Given the description of an element on the screen output the (x, y) to click on. 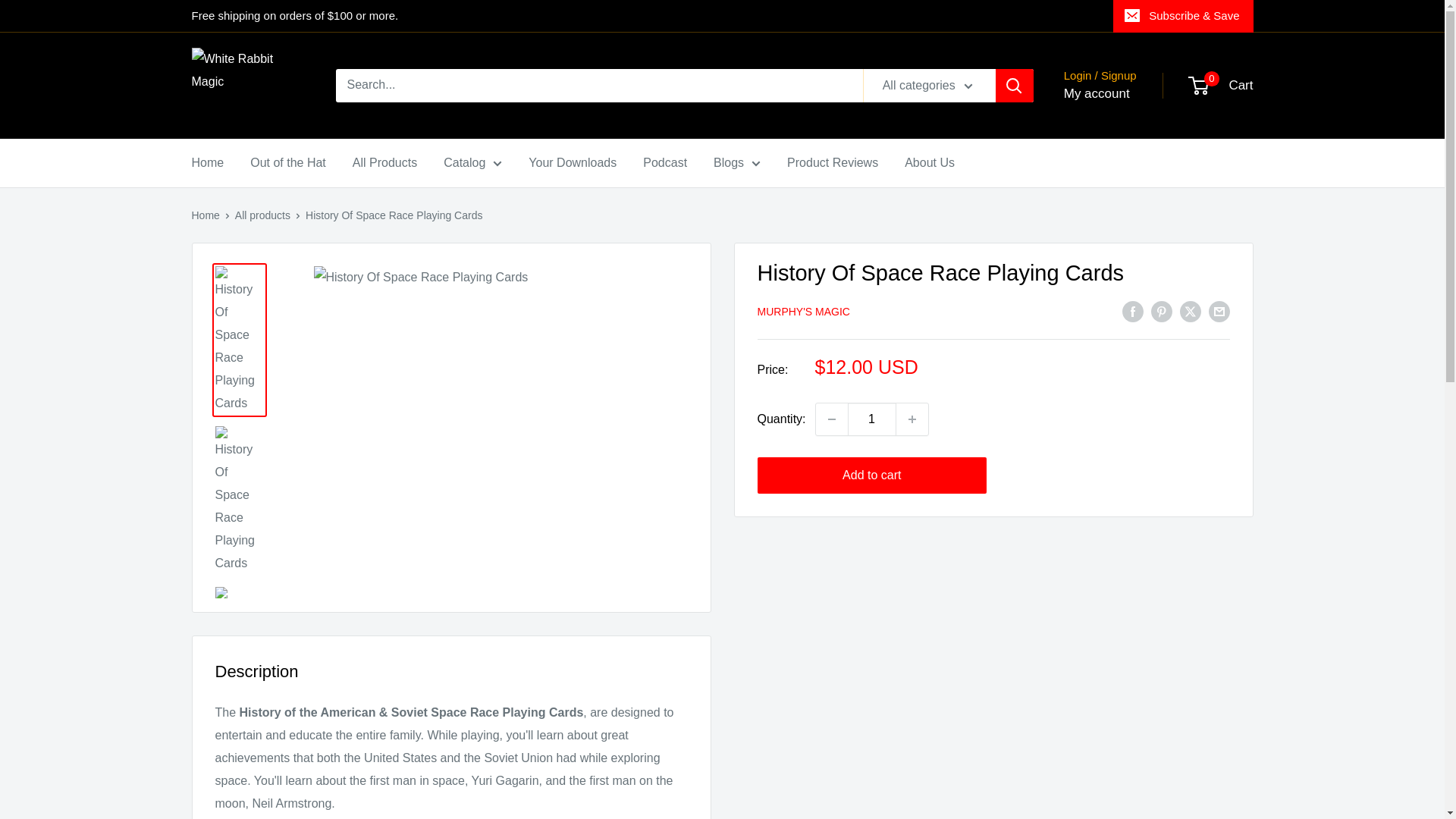
1 (871, 418)
Decrease quantity by 1 (831, 418)
Increase quantity by 1 (912, 418)
